Given the description of an element on the screen output the (x, y) to click on. 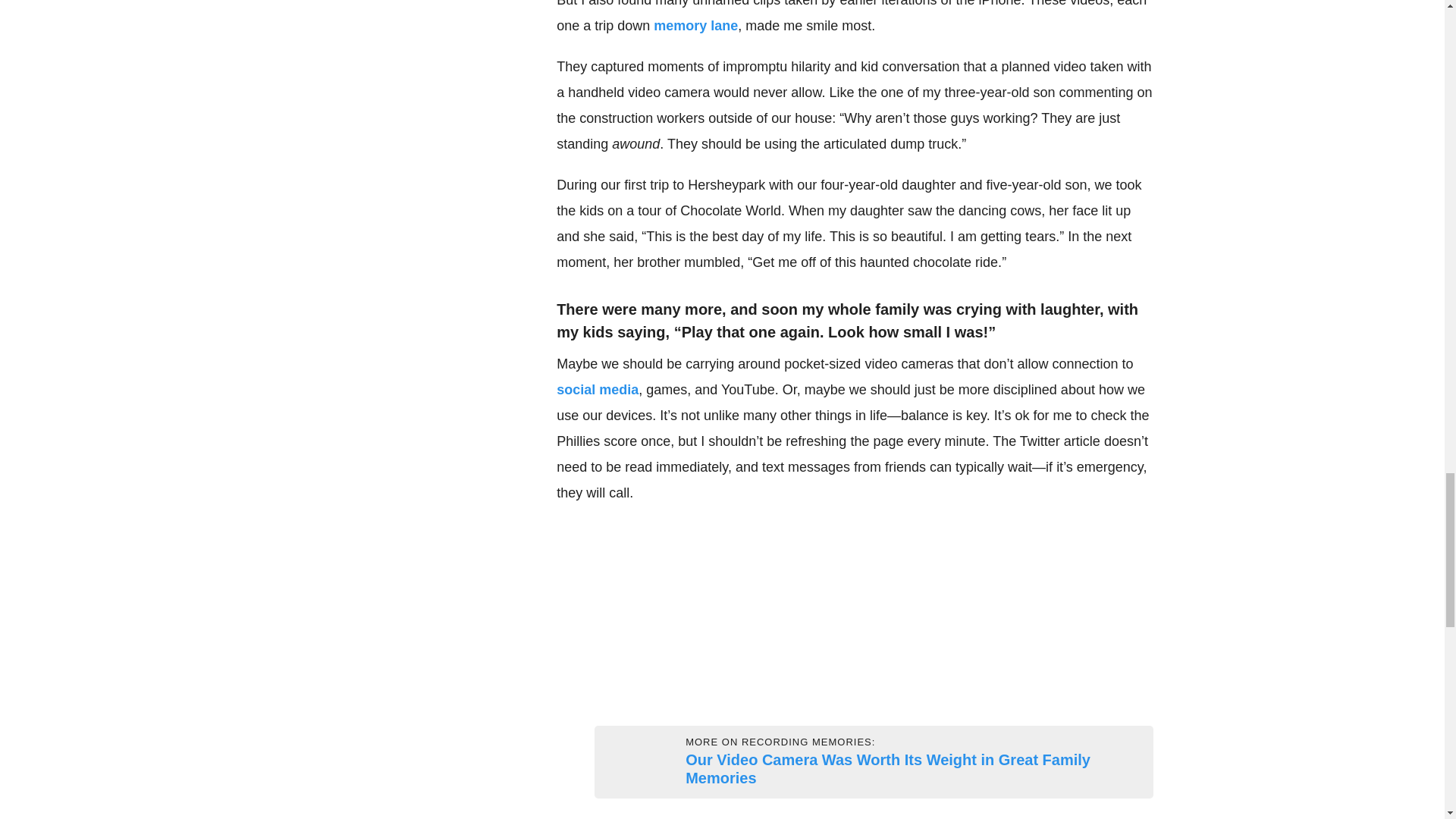
VHS-tapes-video (612, 761)
